Given the description of an element on the screen output the (x, y) to click on. 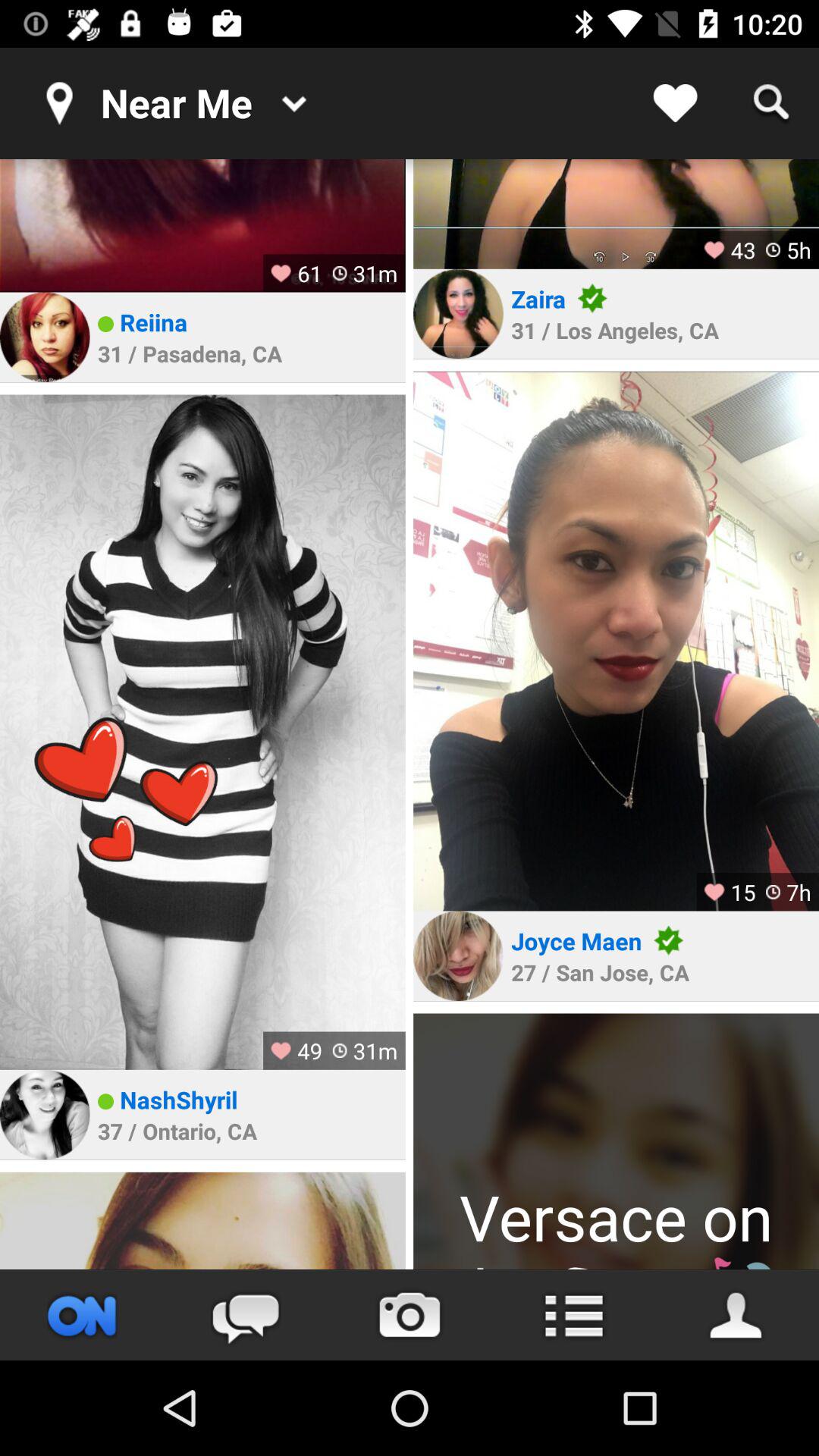
photography element (616, 641)
